Given the description of an element on the screen output the (x, y) to click on. 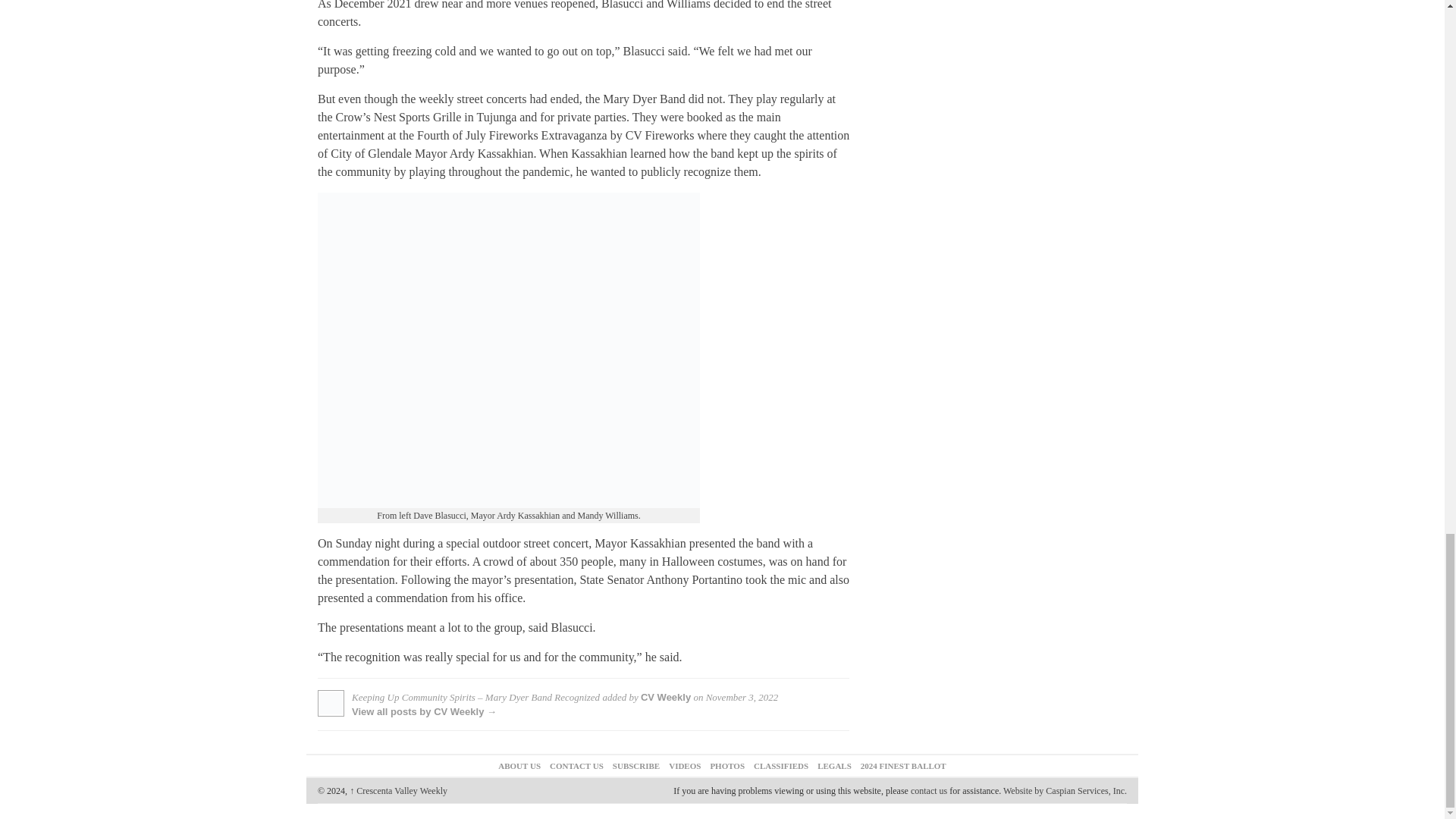
Crescenta Valley Weekly (397, 790)
